Given the description of an element on the screen output the (x, y) to click on. 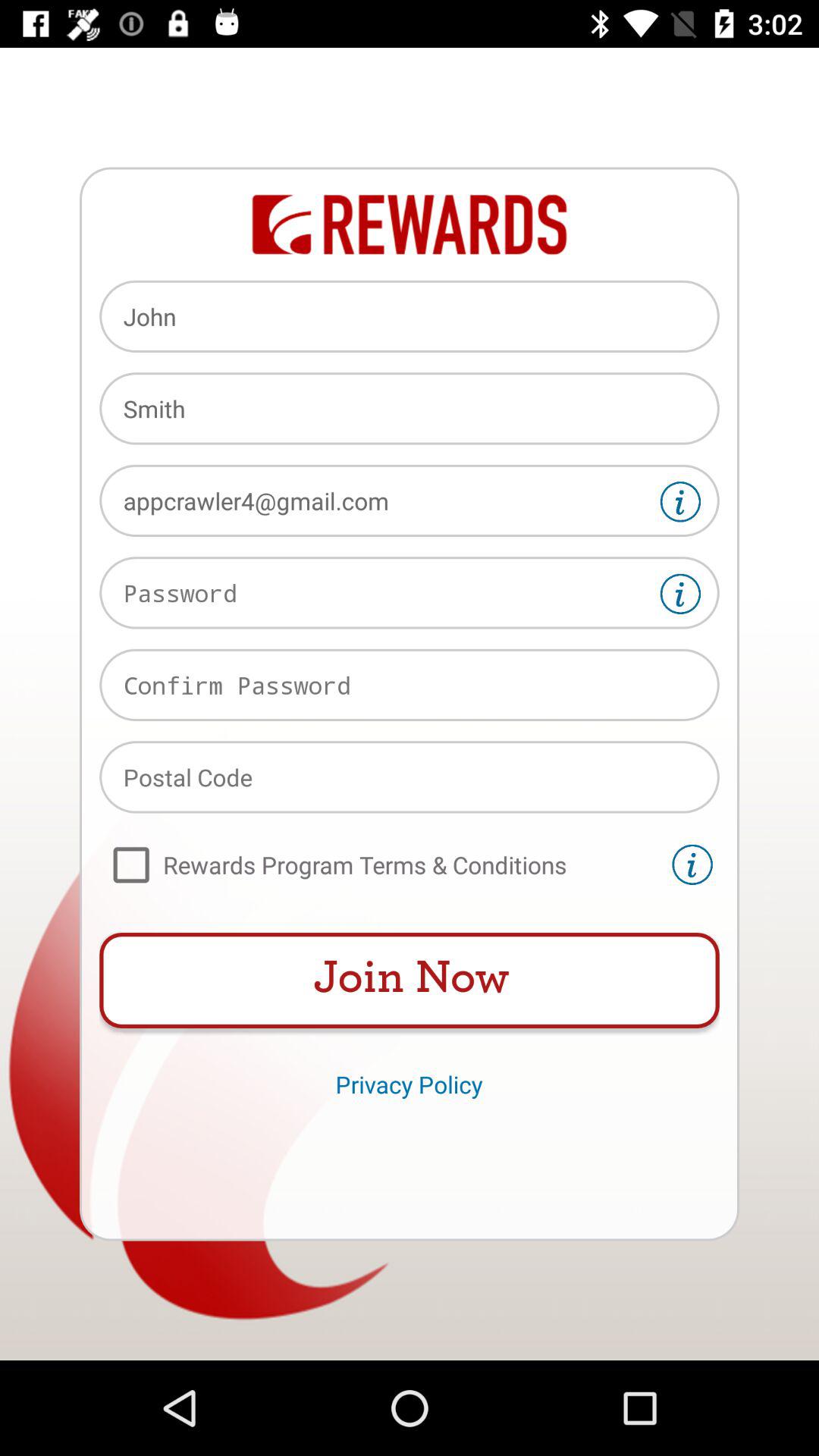
enter postal code (409, 777)
